Given the description of an element on the screen output the (x, y) to click on. 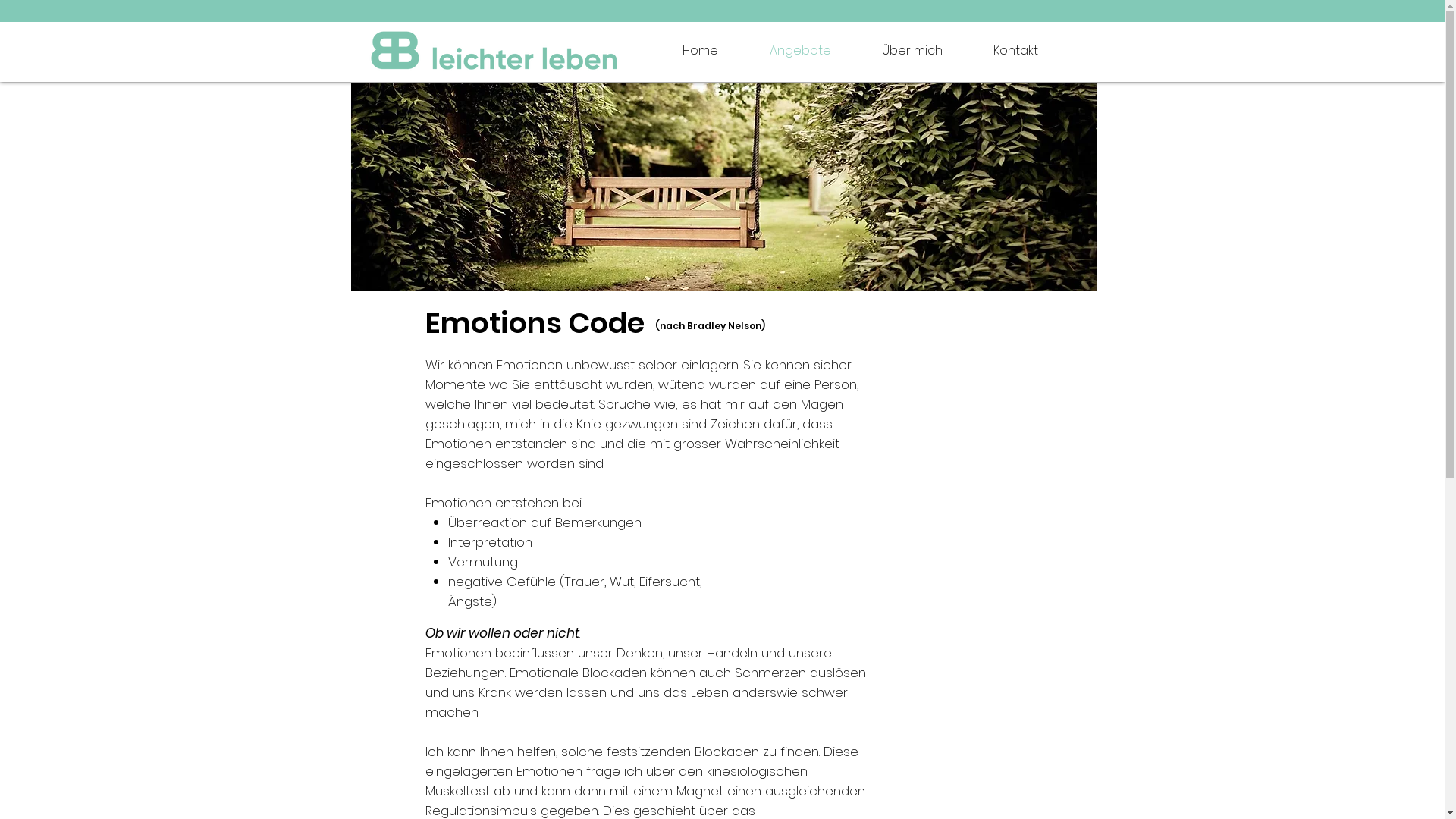
Home Element type: text (684, 50)
Kontakt Element type: text (1001, 50)
BB-Logo_RGB_pos.png Element type: hover (493, 50)
Angebote Element type: text (785, 50)
